Given the description of an element on the screen output the (x, y) to click on. 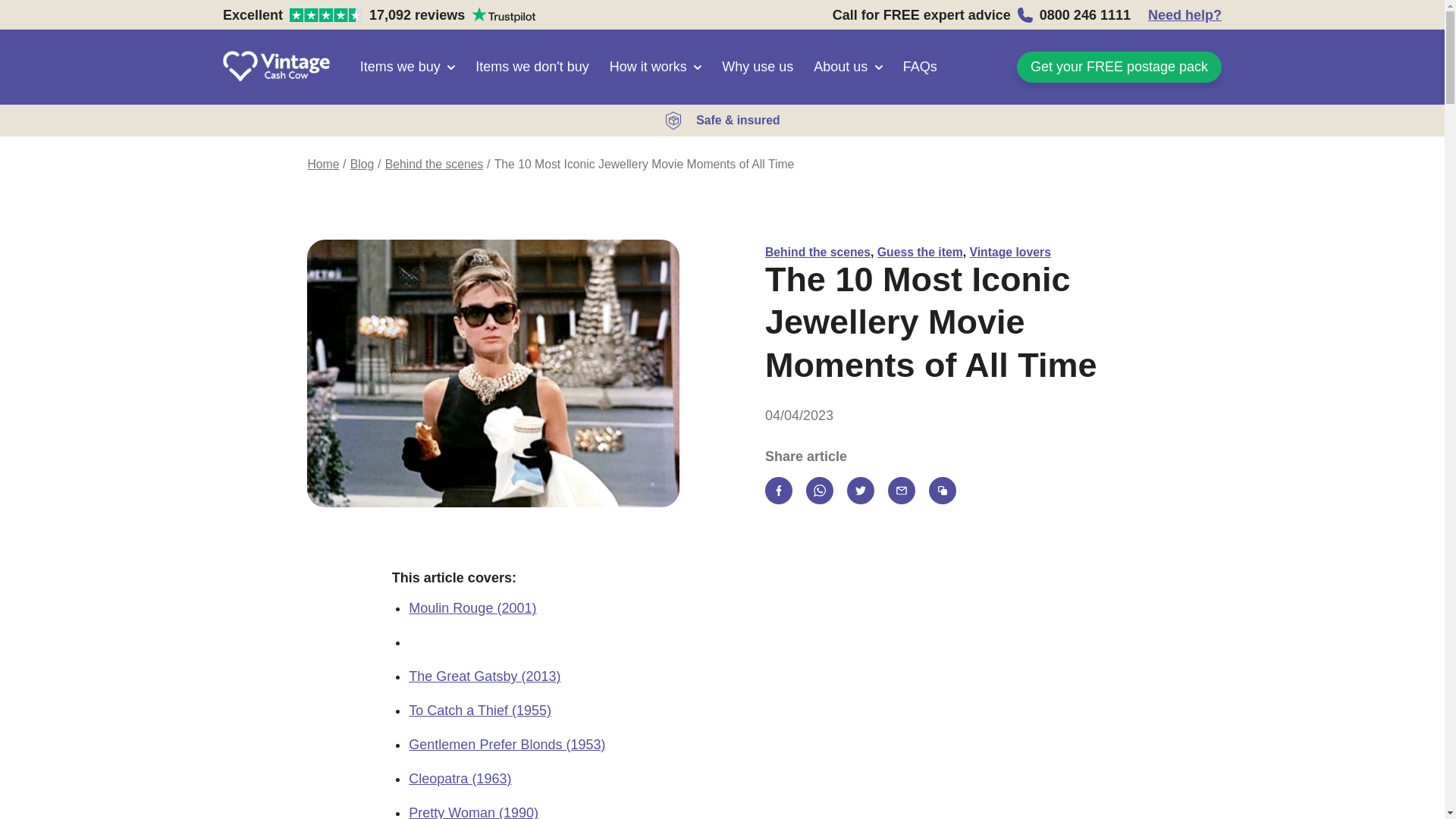
About us (847, 66)
Behind the scenes (434, 164)
Guess the item (378, 14)
Home (919, 251)
Behind the scenes (323, 164)
Get your FREE postage pack (817, 251)
Need help? (1118, 66)
Items we buy (1184, 14)
How it works (407, 66)
